Given the description of an element on the screen output the (x, y) to click on. 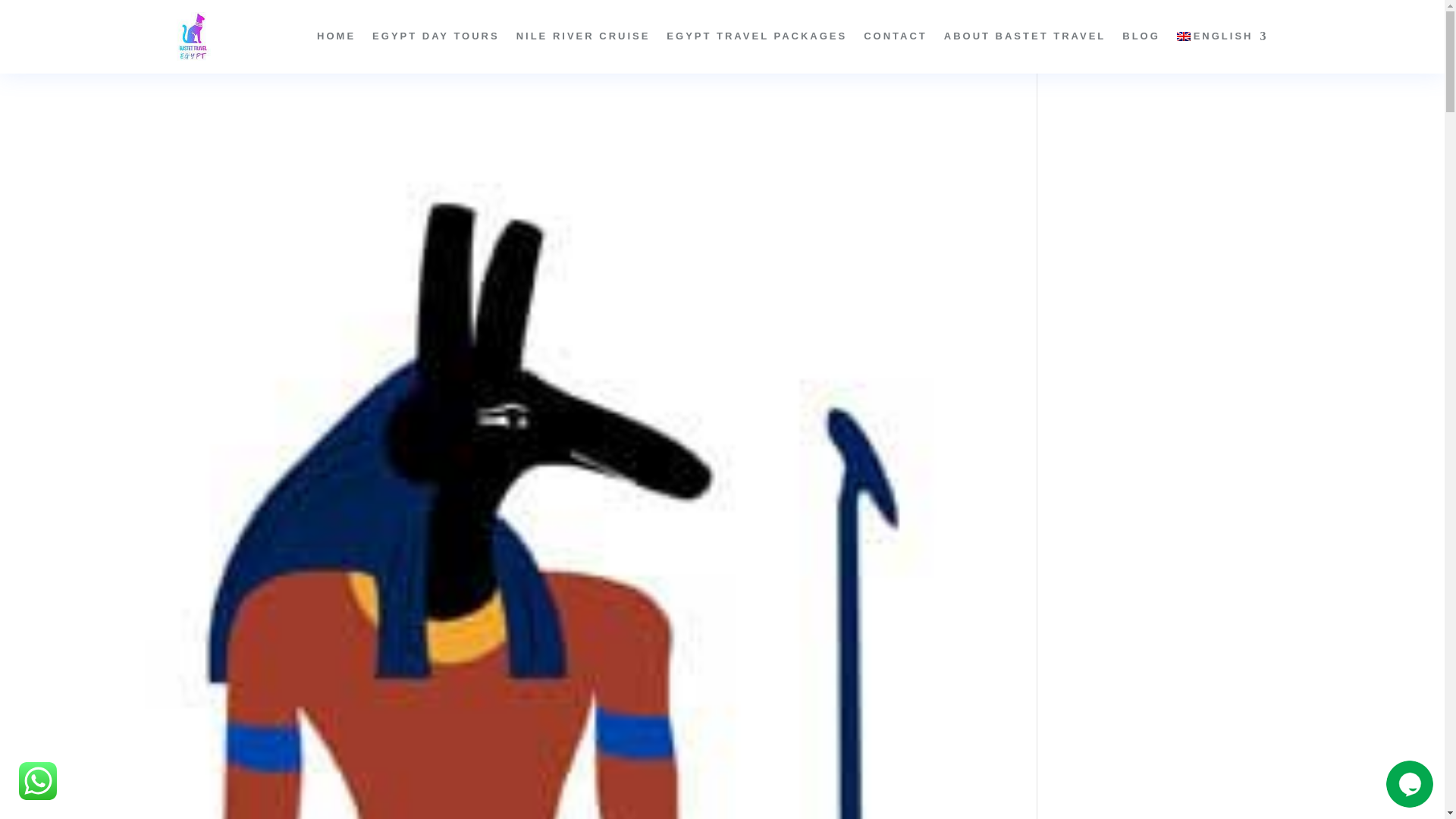
English (1222, 36)
EGYPT TRAVEL PACKAGES (756, 36)
HOME (336, 36)
EGYPT DAY TOURS (435, 36)
NILE RIVER CRUISE (583, 36)
